Given the description of an element on the screen output the (x, y) to click on. 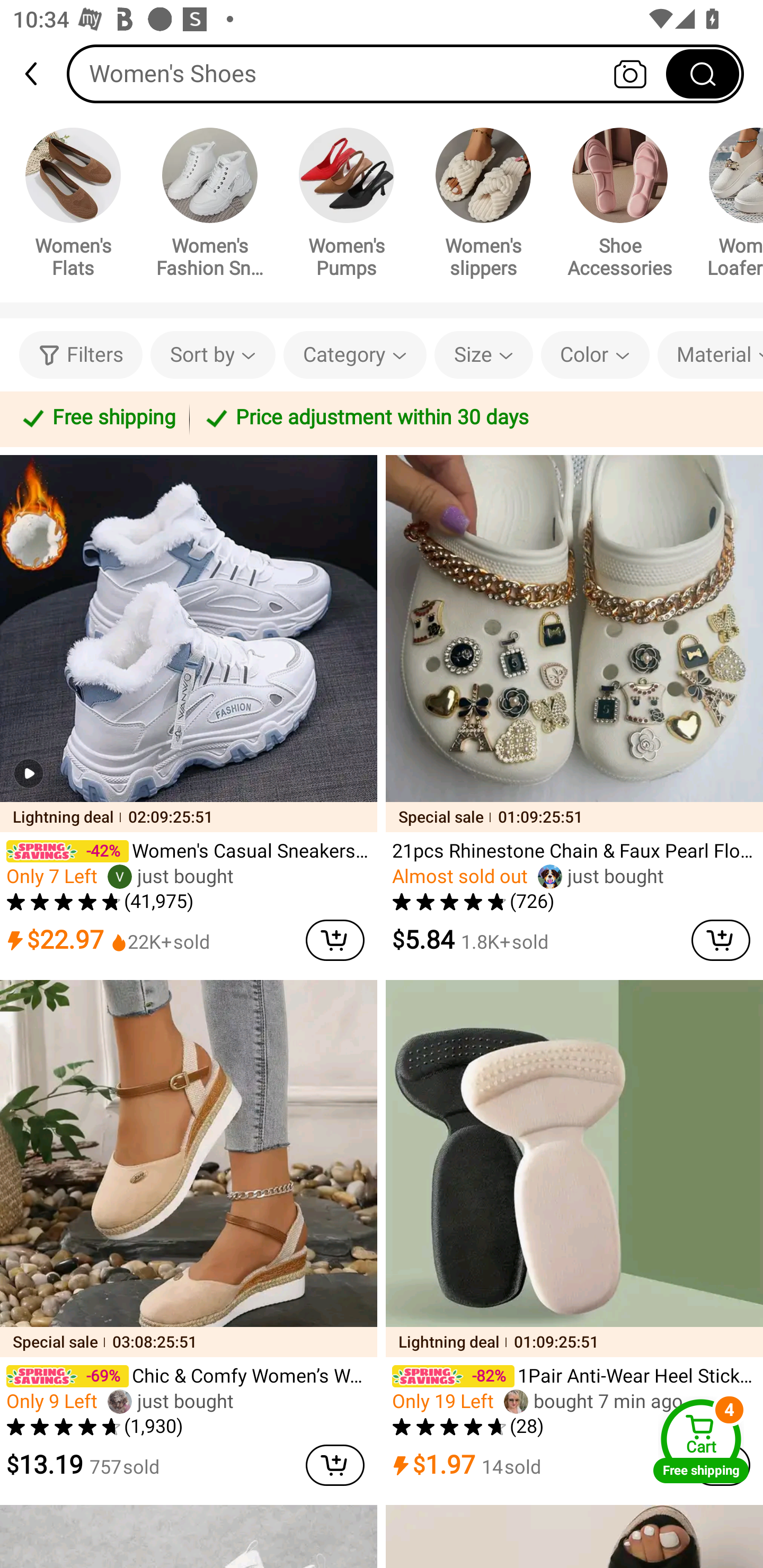
back (39, 73)
Women's Shoes (405, 73)
Women's Flats (73, 205)
Women's Fashion Sneakers (209, 205)
Women's Pumps (346, 205)
Women's slippers (483, 205)
Shoe Accessories (619, 205)
Filters (80, 354)
Sort by (212, 354)
Category (354, 354)
Size (483, 354)
Color (594, 354)
Free shipping (97, 418)
Price adjustment within 30 days (472, 418)
cart delete (334, 939)
cart delete (720, 939)
Cart Free shipping Cart (701, 1440)
cart delete (334, 1465)
